Given the description of an element on the screen output the (x, y) to click on. 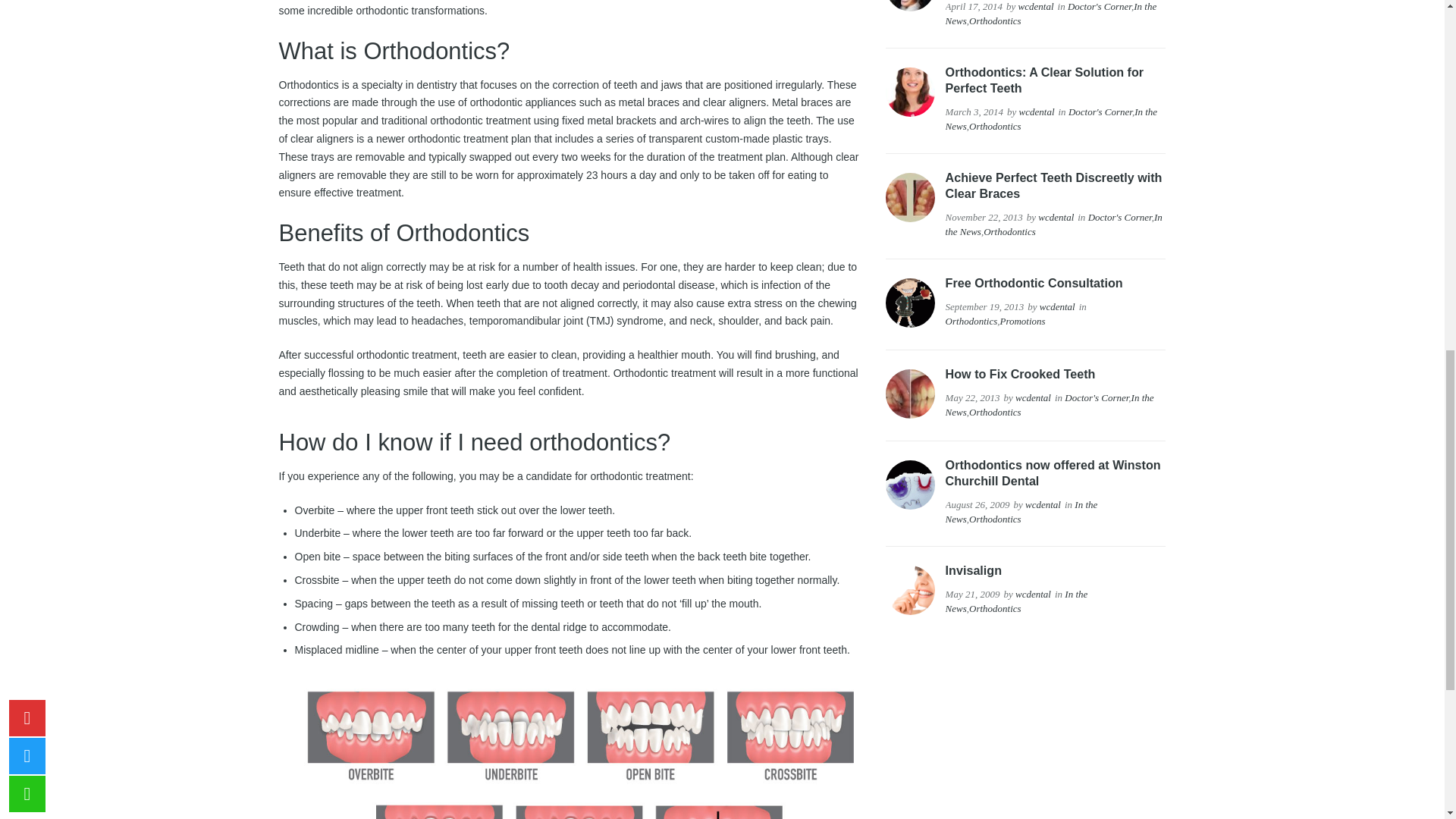
In the News (1050, 13)
Orthodontics: A Clear Solution for Perfect Teeth (1044, 80)
wcdental (1035, 6)
Orthodontics (995, 20)
Doctor's Corner (1099, 6)
